Given the description of an element on the screen output the (x, y) to click on. 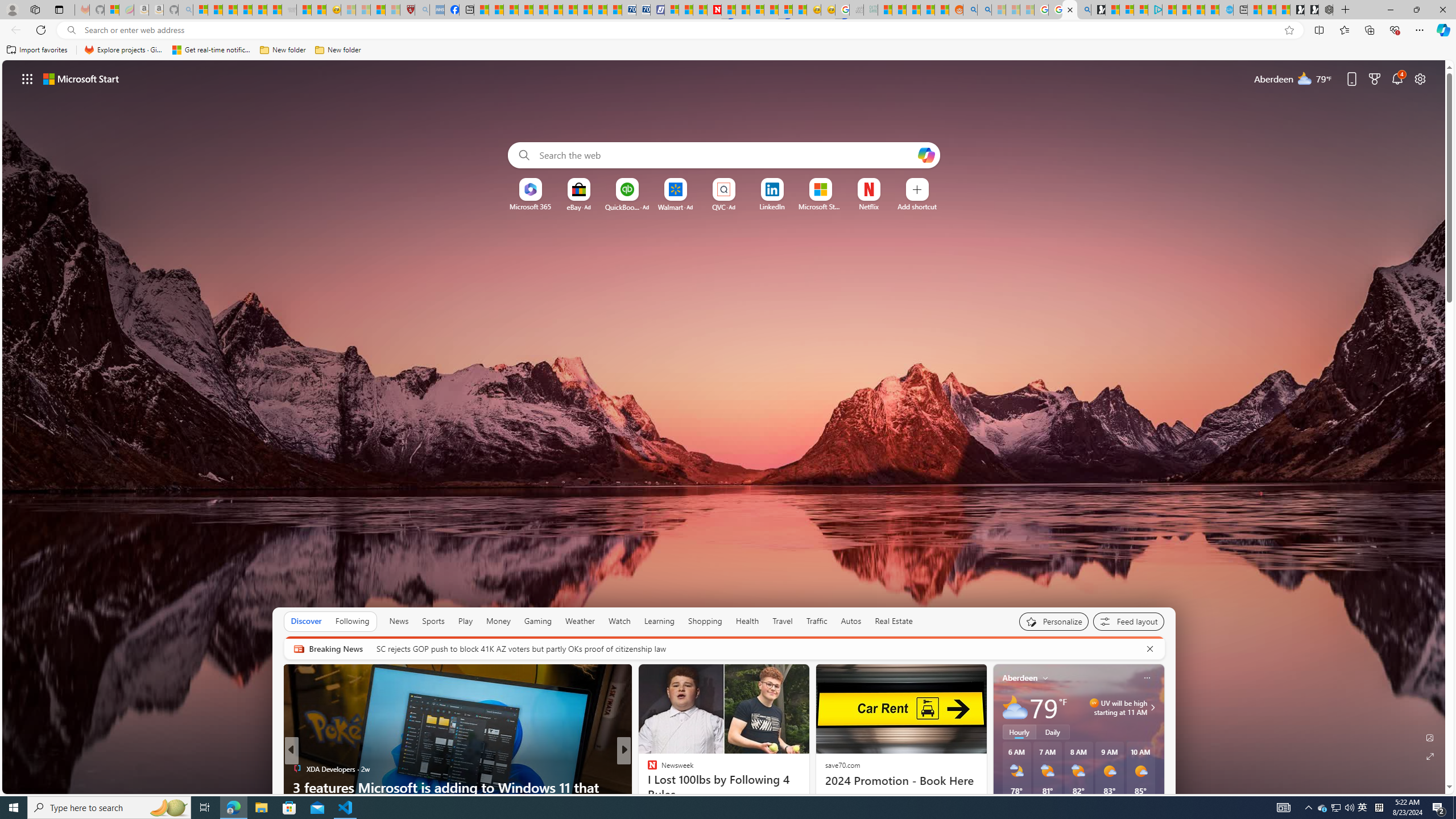
save70.com (842, 764)
Edit Background (1430, 737)
Climate Damage Becomes Too Severe To Reverse (525, 9)
Favorites bar (728, 49)
Shopping (705, 621)
Play (465, 621)
